Given the description of an element on the screen output the (x, y) to click on. 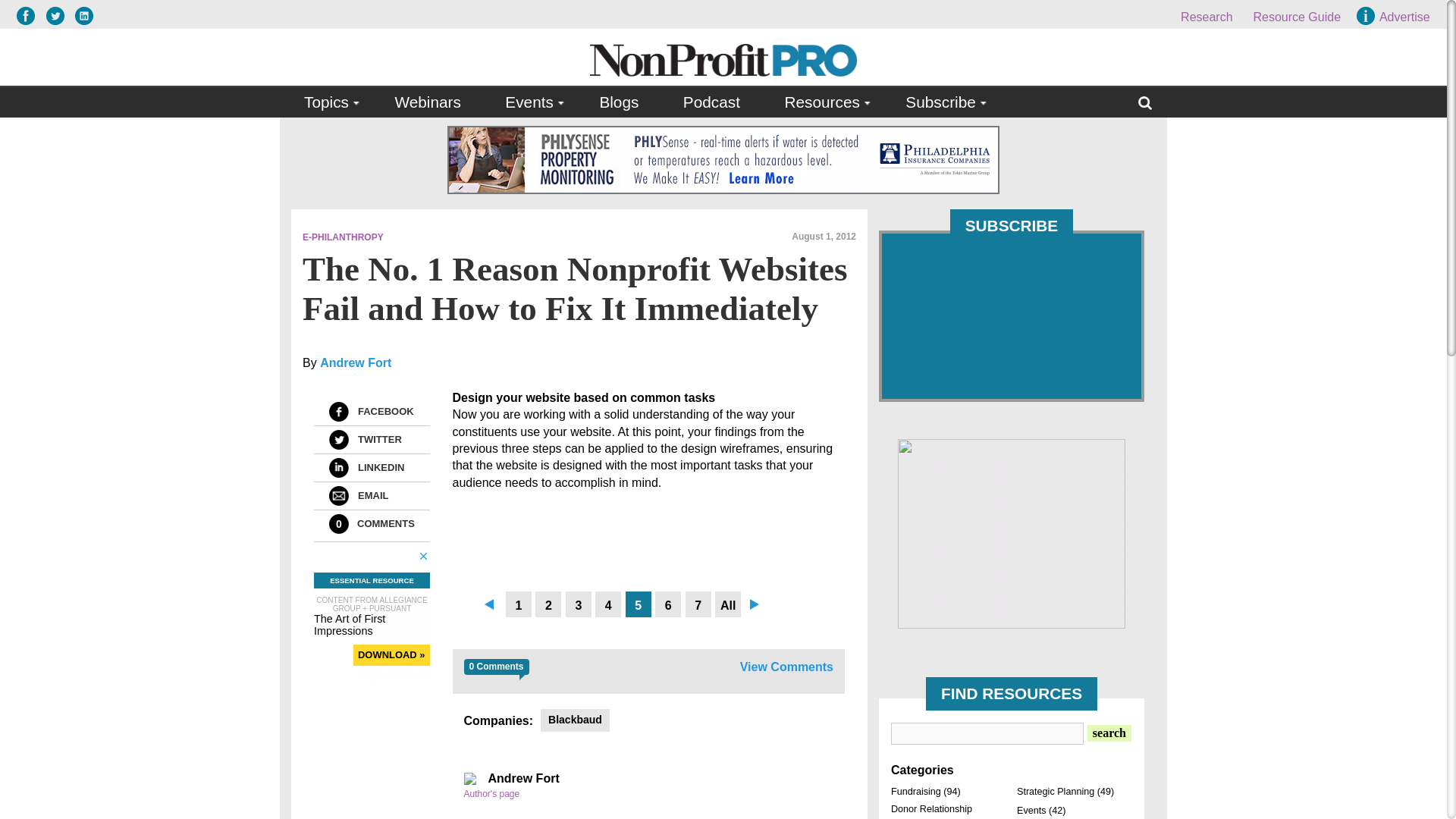
Facebook (339, 411)
LinkedIn (339, 467)
Email Link (339, 496)
Resource Guide (1296, 16)
Twitter (339, 439)
3rd party ad content (722, 160)
3rd party ad content (1011, 533)
Webinars (426, 101)
Events (530, 101)
Advertise (1395, 16)
search (1109, 733)
Topics (327, 101)
Research (1205, 16)
